Given the description of an element on the screen output the (x, y) to click on. 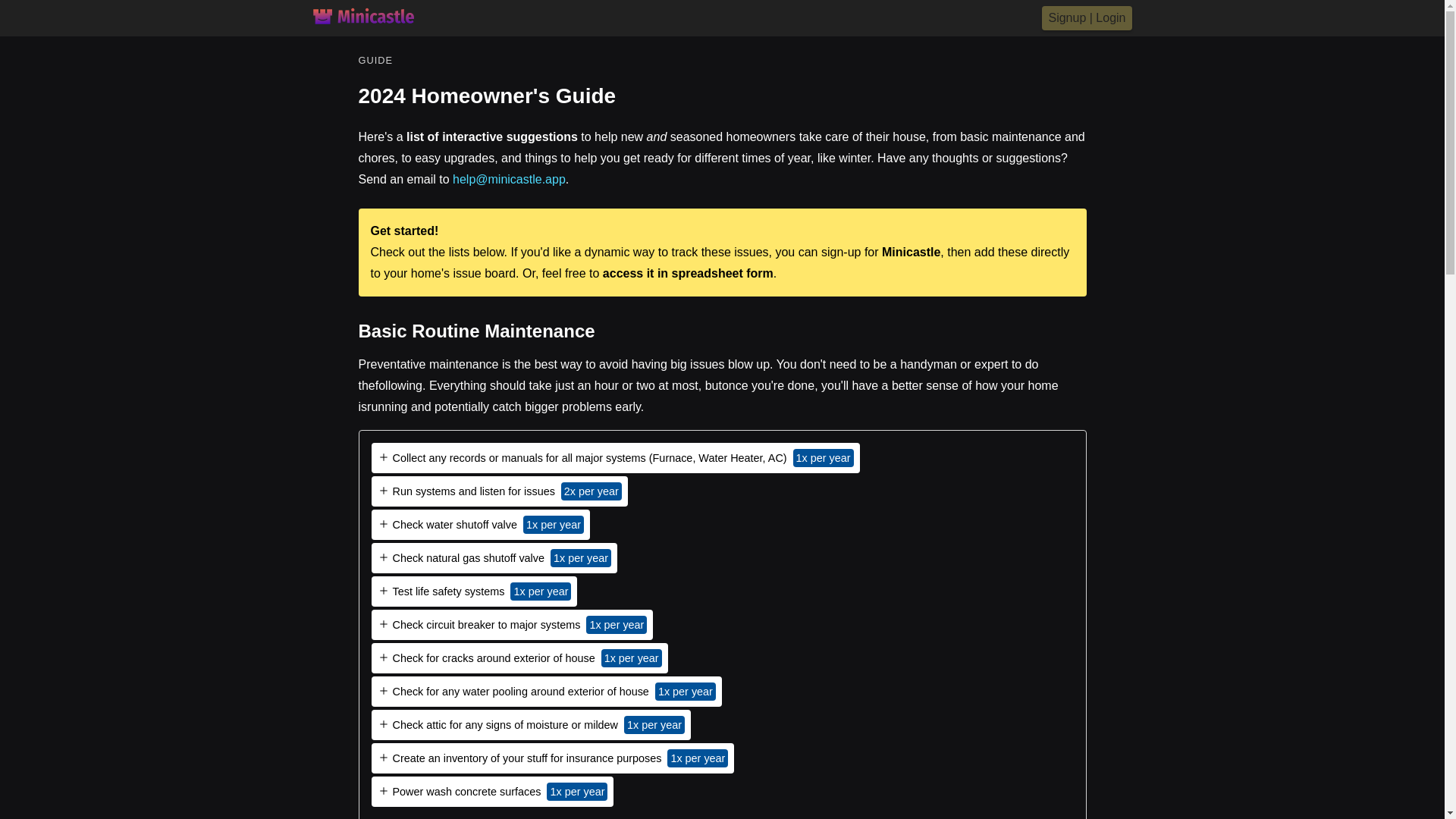
Minicastle (911, 251)
access it in spreadsheet form (687, 273)
